Given the description of an element on the screen output the (x, y) to click on. 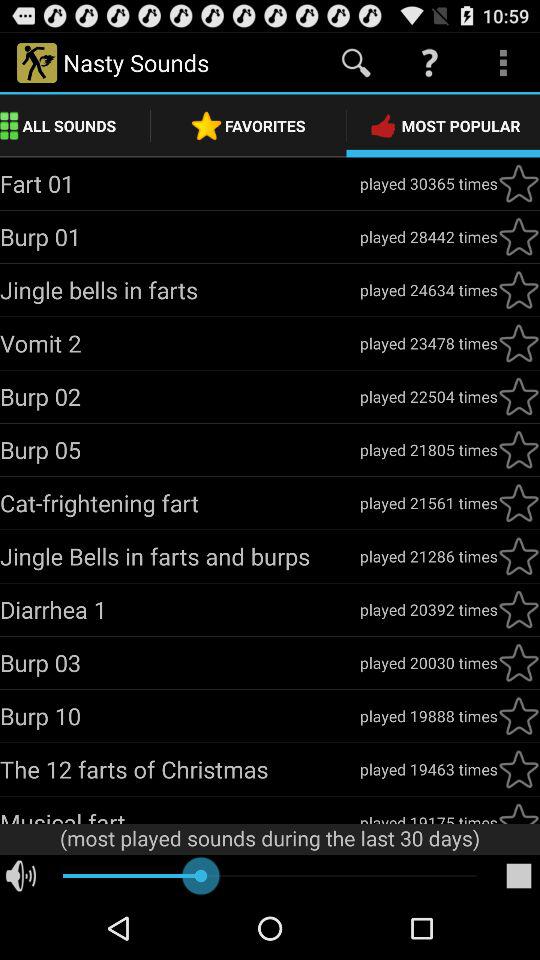
click for favorite (519, 812)
